Given the description of an element on the screen output the (x, y) to click on. 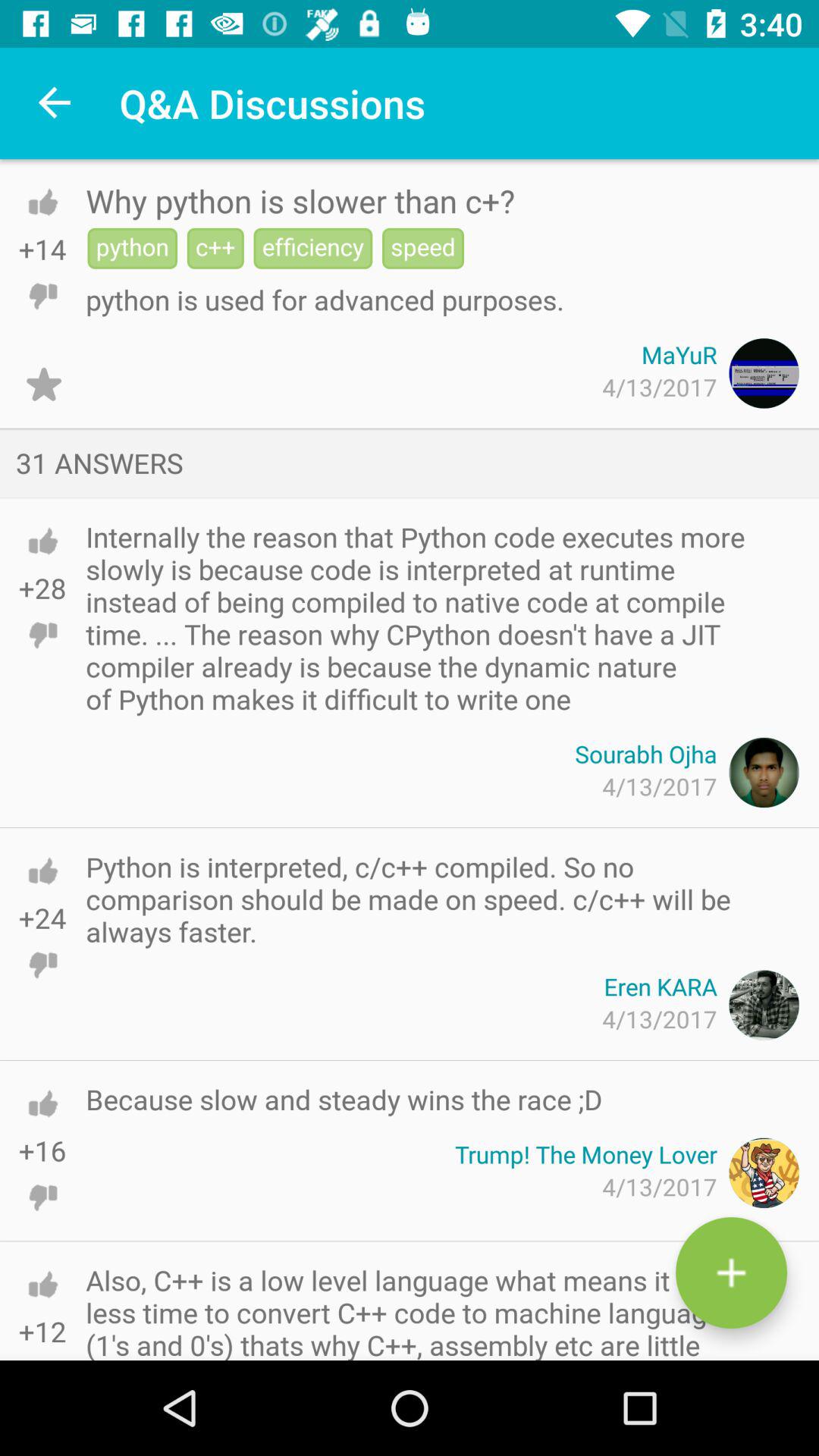
thumbs down (42, 1197)
